Given the description of an element on the screen output the (x, y) to click on. 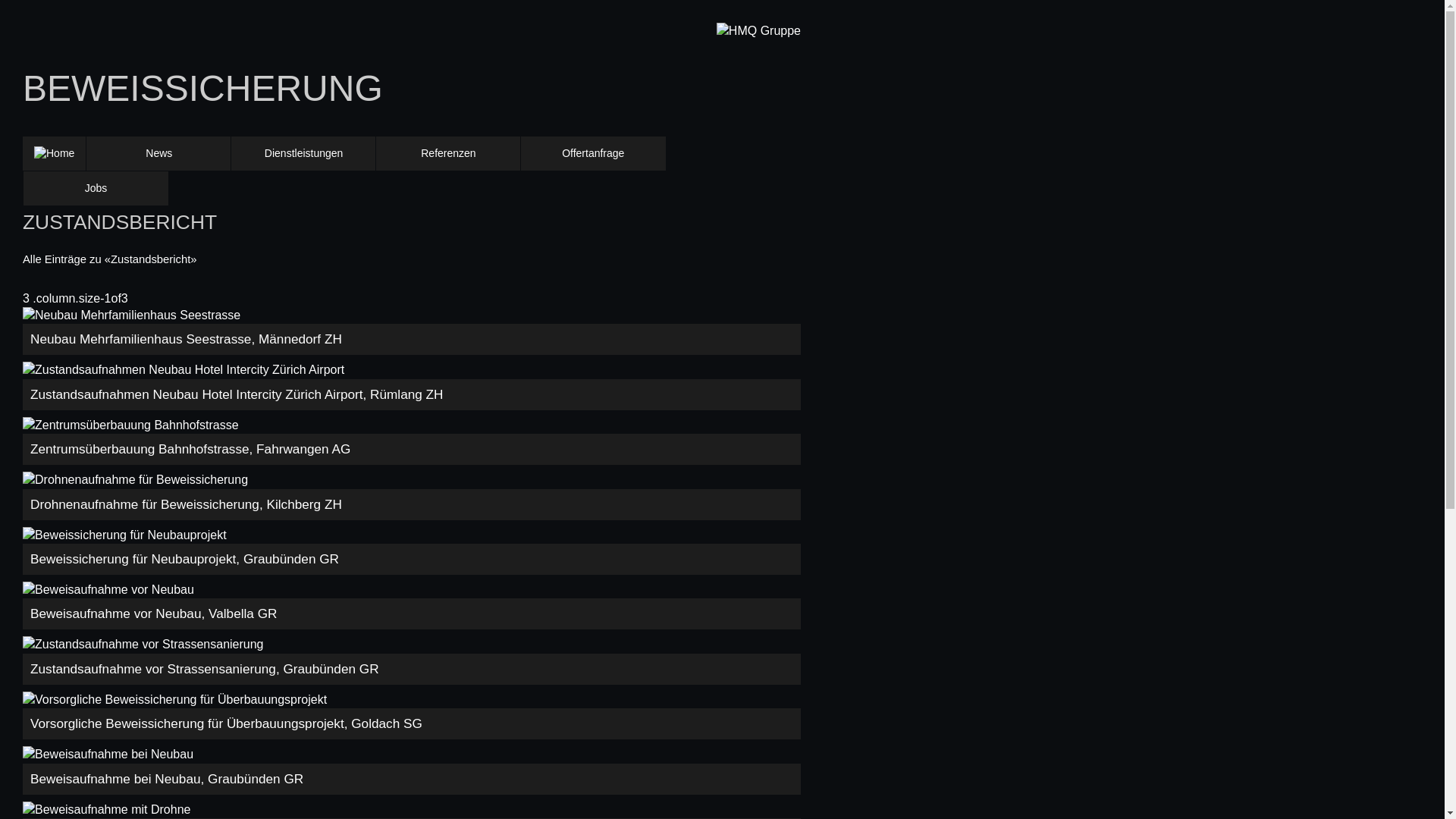
Startseite Element type: hover (53, 153)
Jobs Element type: text (95, 188)
Offertanfrage Element type: text (592, 153)
News Element type: text (158, 153)
Startseite Element type: hover (54, 153)
Dienstleistungen Element type: text (303, 153)
Referenzen Element type: text (447, 153)
Portal HMQ Gruppe Element type: hover (758, 30)
Beweisaufnahme vor Neubau, Valbella GR Element type: text (411, 605)
BEWEISSICHERUNG Element type: text (202, 87)
